Given the description of an element on the screen output the (x, y) to click on. 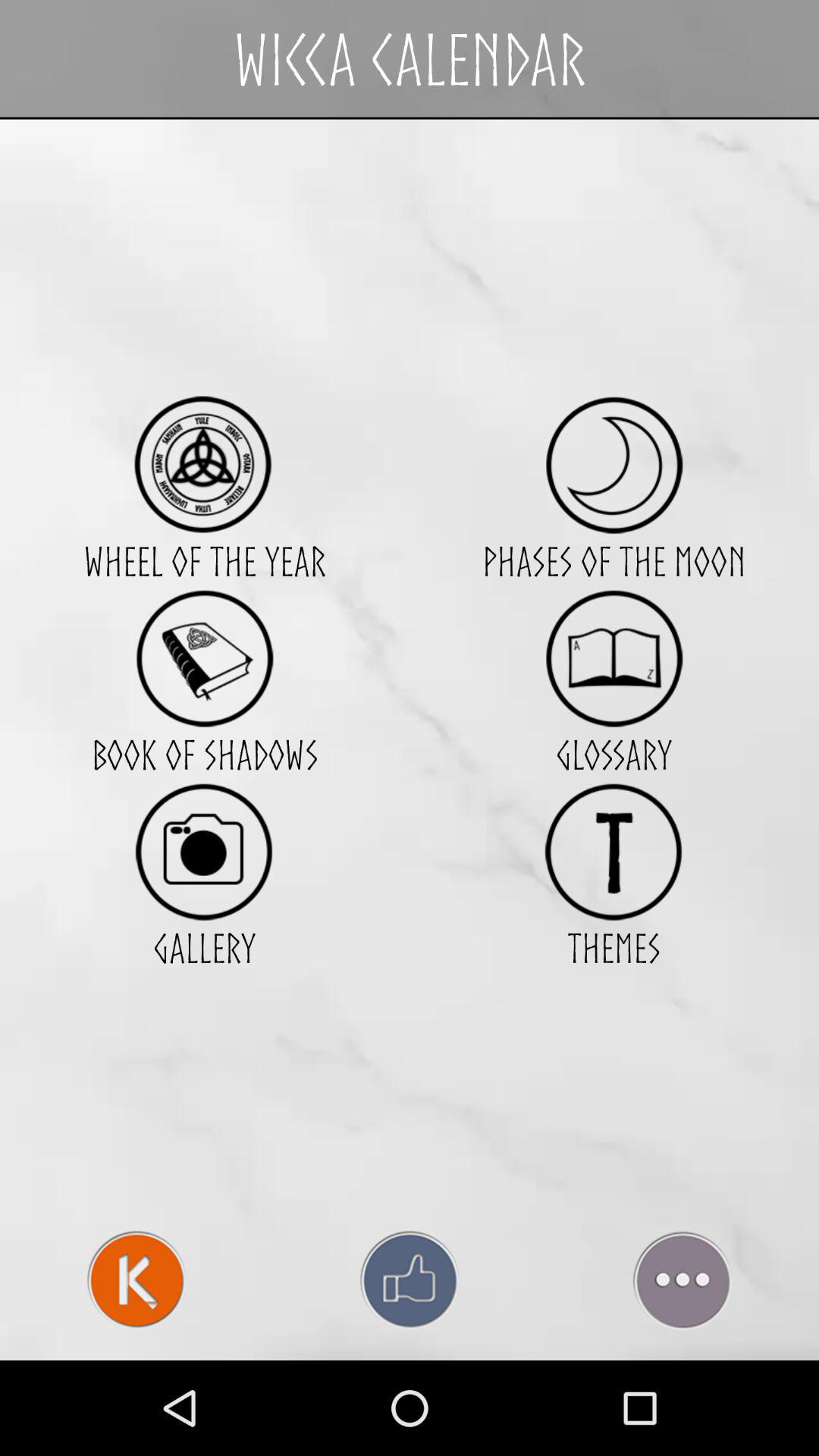
choose item below phases of the (613, 658)
